Given the description of an element on the screen output the (x, y) to click on. 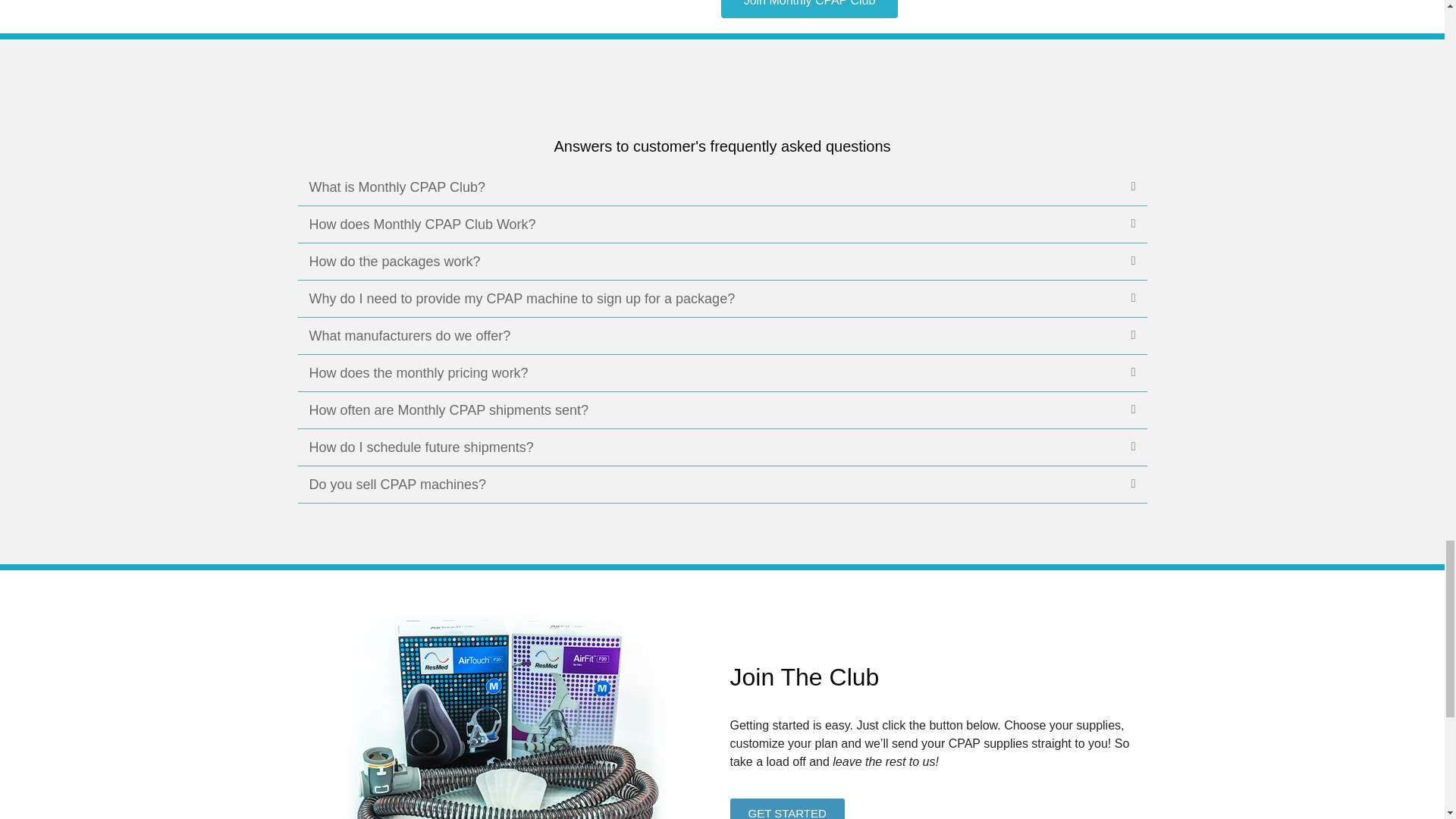
Join Monthly CPAP Club (809, 9)
How does Monthly CPAP Club Work? (421, 224)
What is Monthly CPAP Club? (396, 186)
How do the packages work? (394, 261)
